Given the description of an element on the screen output the (x, y) to click on. 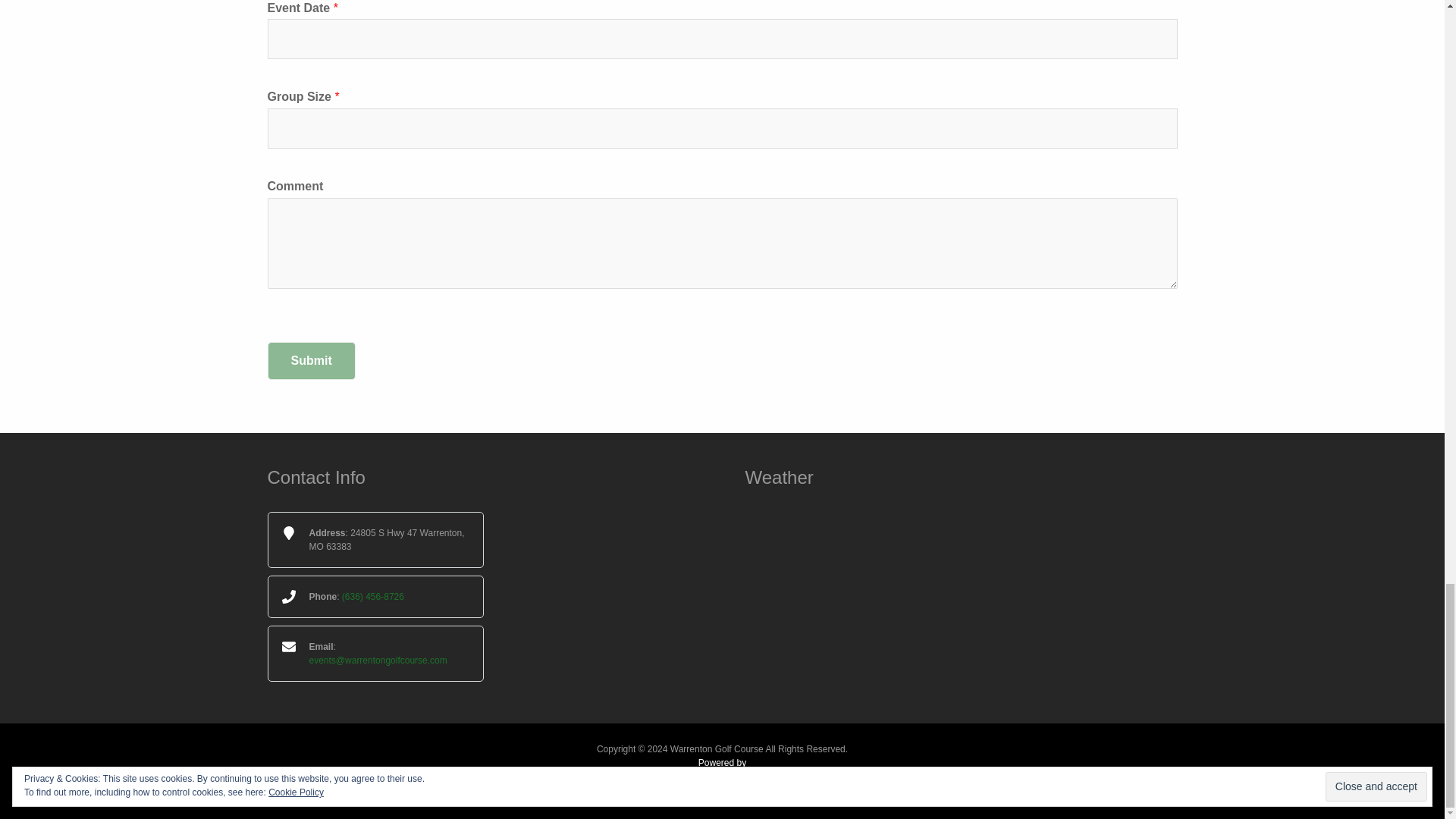
Submit (310, 361)
